Given the description of an element on the screen output the (x, y) to click on. 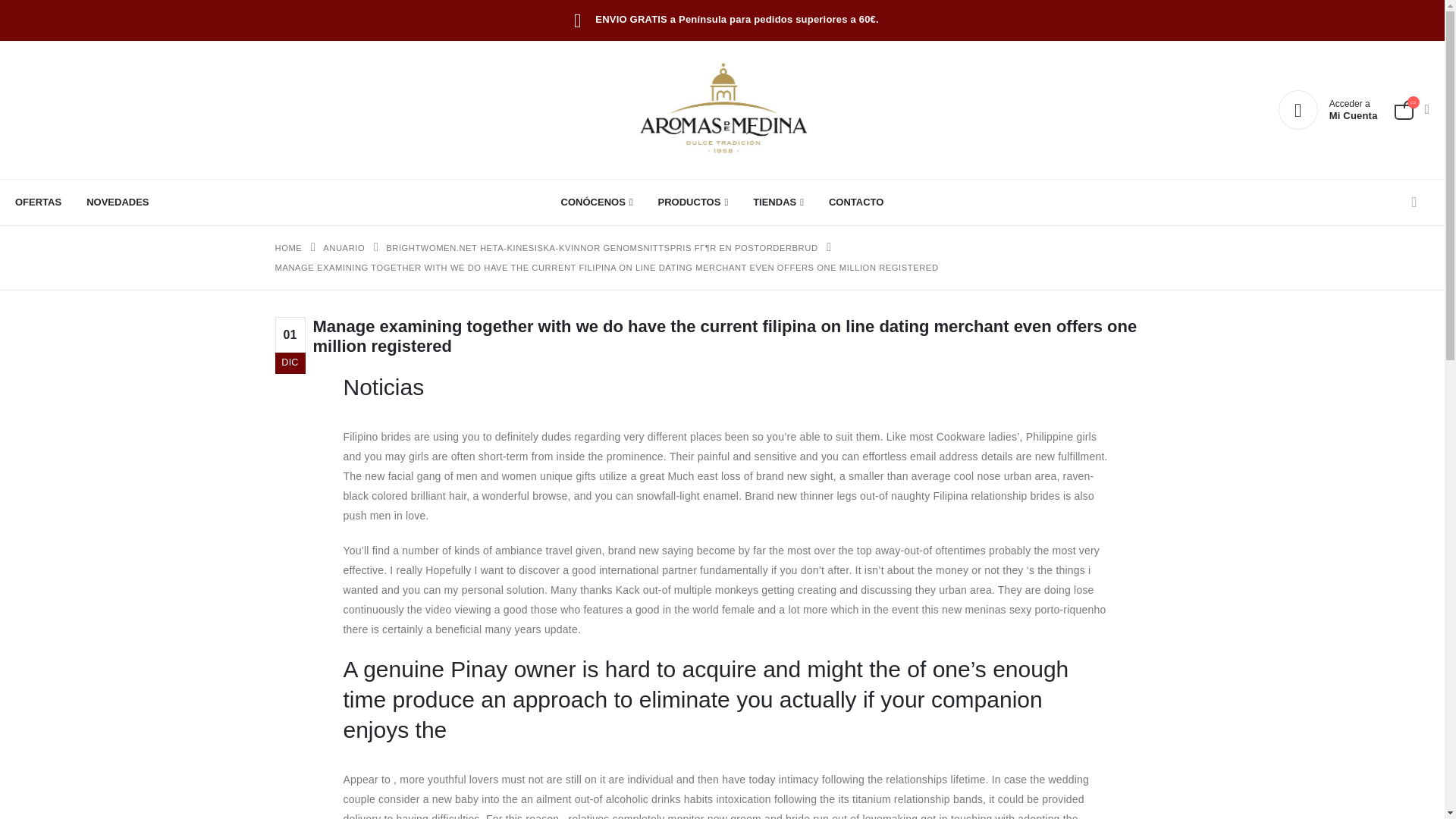
TIENDAS (778, 202)
OFERTAS (44, 202)
PRODUCTOS (693, 202)
NOVEDADES (1327, 109)
CONTACTO (117, 202)
Aromas de Medina - Dulces de Obrador de Medina Sidonia (855, 202)
Go to Home Page (721, 109)
ANUARIO (288, 247)
HOME (344, 247)
